Given the description of an element on the screen output the (x, y) to click on. 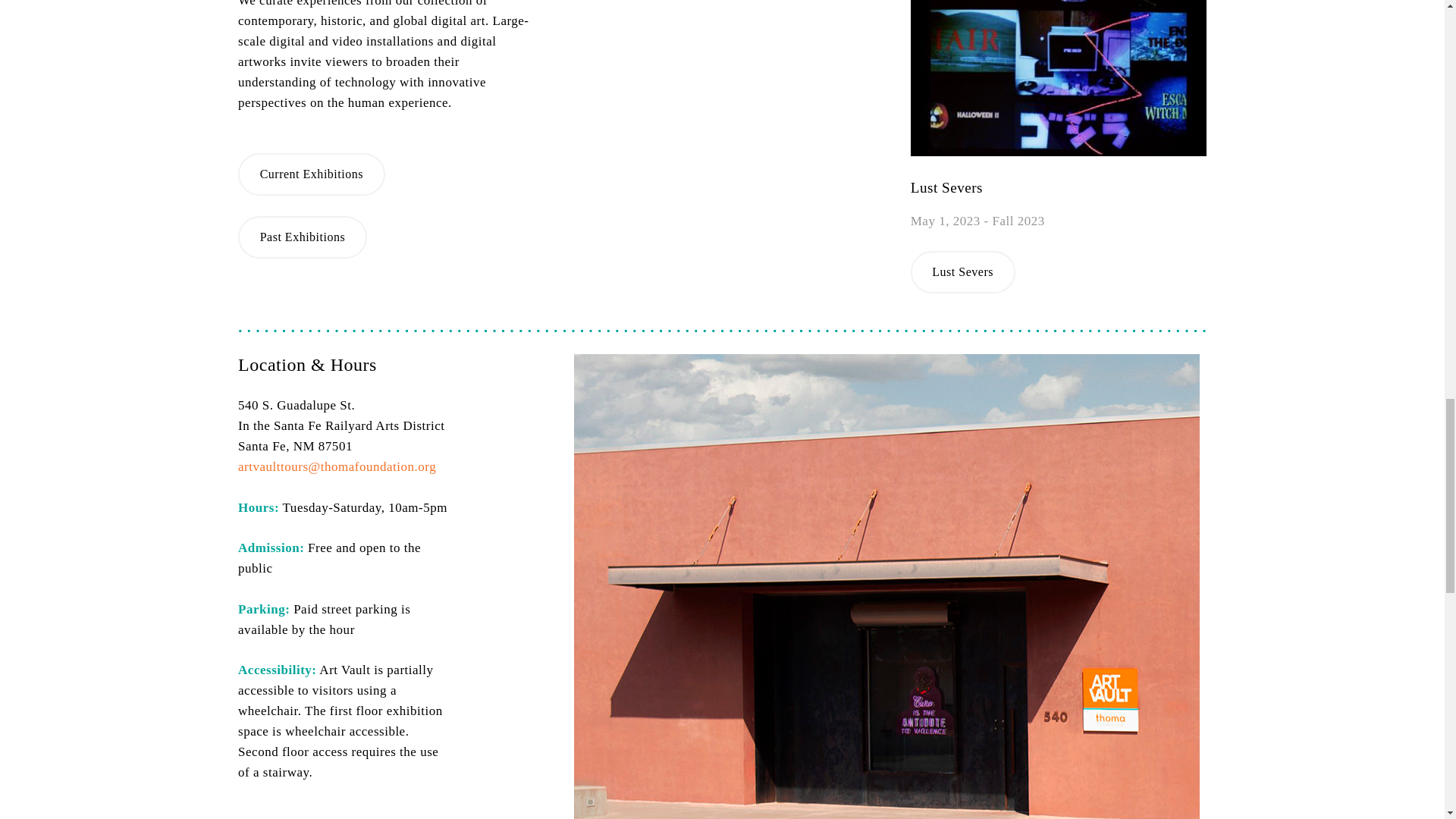
Current Exhibitions (311, 174)
Lust Severs (962, 271)
Past Exhibitions (302, 237)
